Given the description of an element on the screen output the (x, y) to click on. 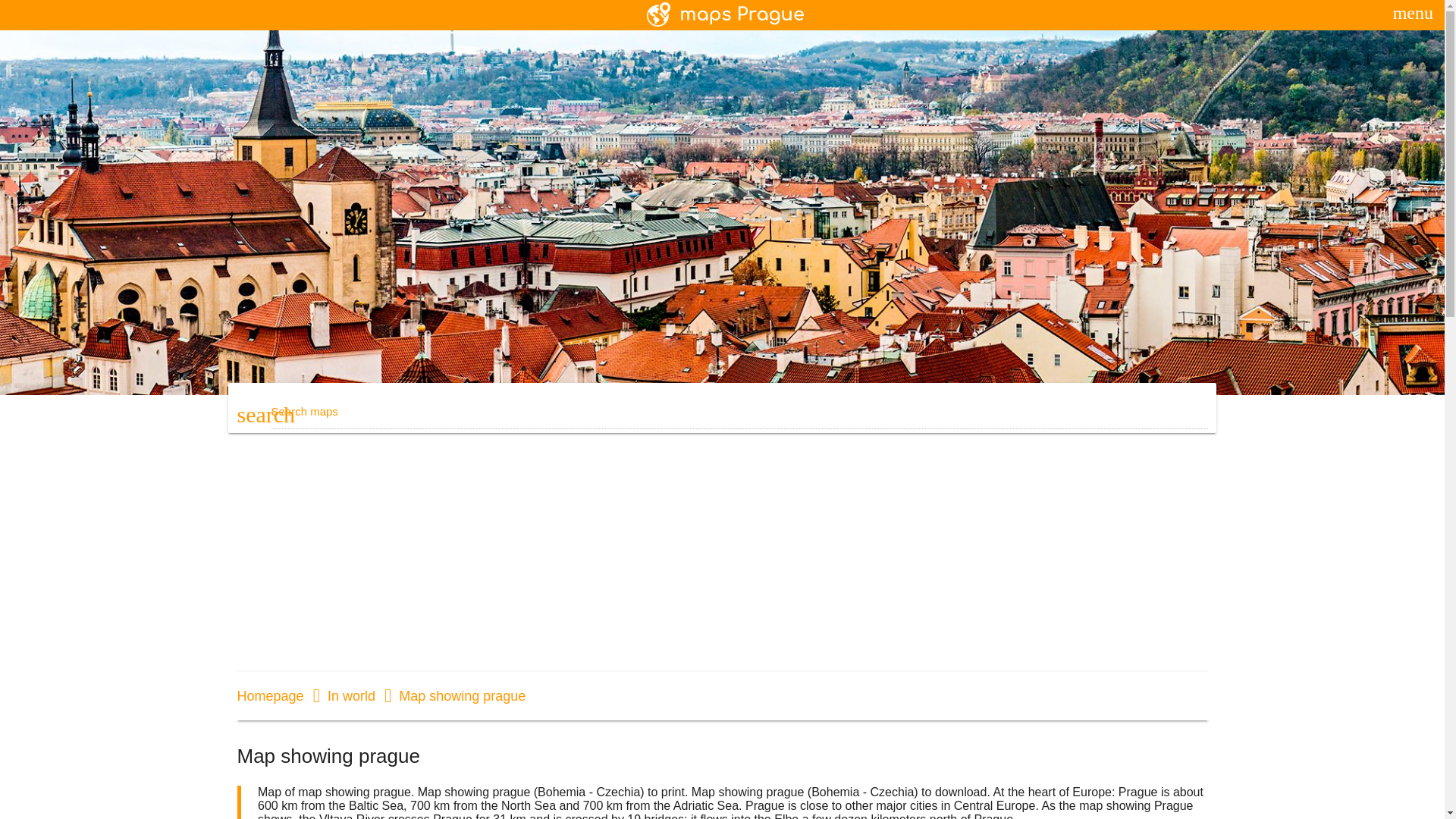
Homepage (268, 695)
menu (1412, 13)
Map showing prague (451, 695)
Map showing prague (451, 695)
In world (341, 695)
Homepage maps Prague (268, 695)
In world (341, 695)
